Given the description of an element on the screen output the (x, y) to click on. 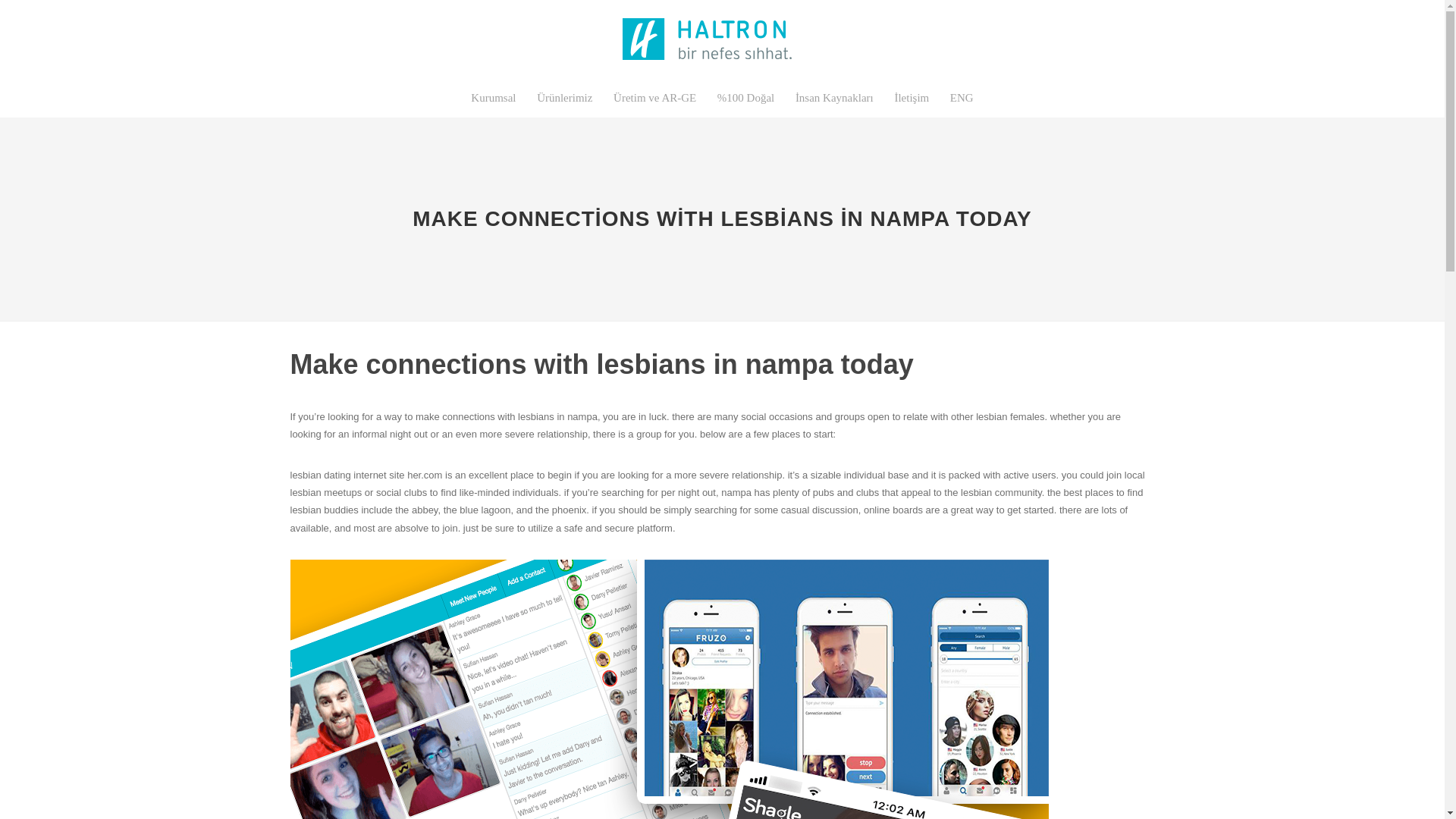
Kurumsal (492, 97)
ENG (961, 97)
